Given the description of an element on the screen output the (x, y) to click on. 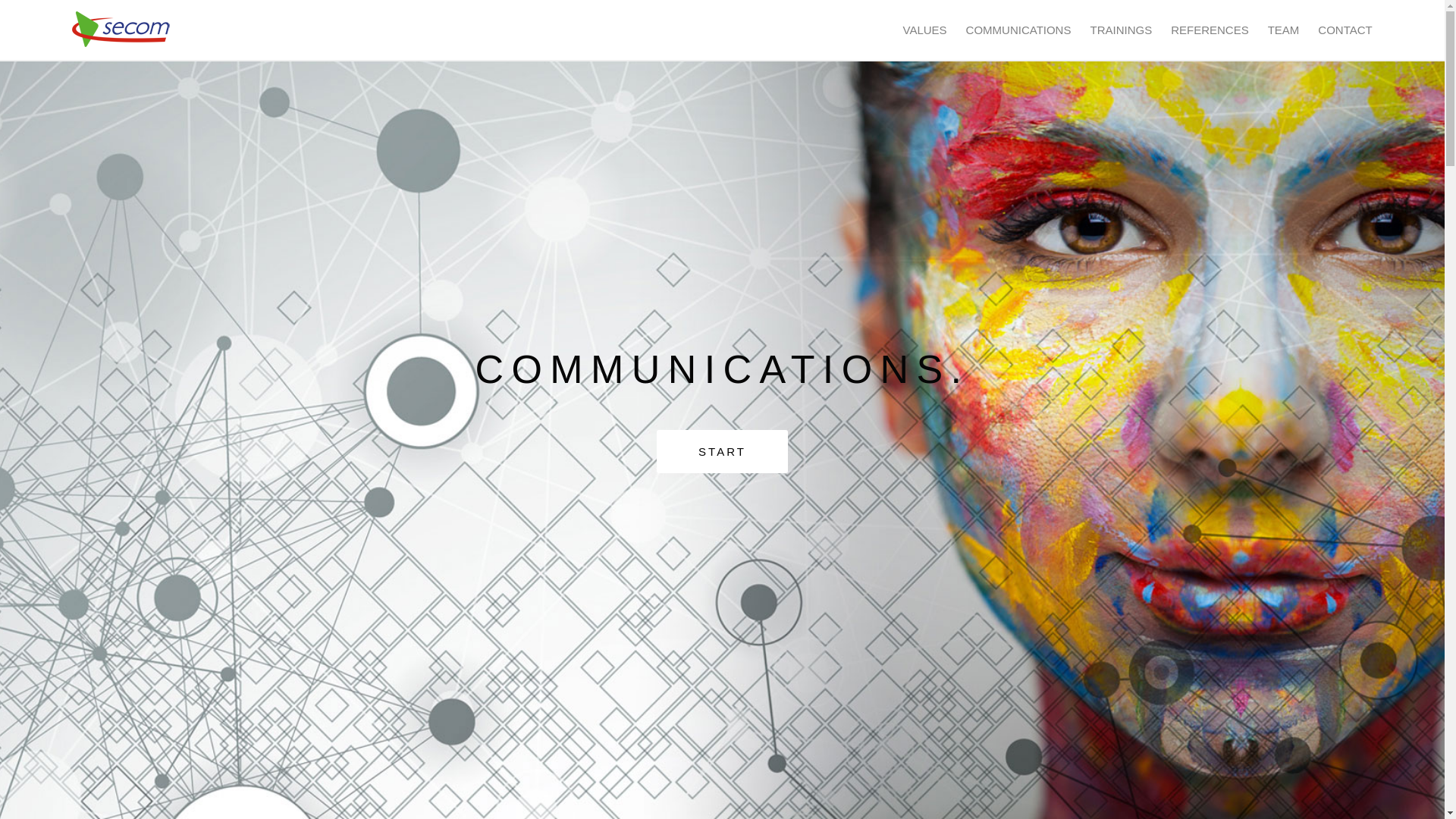
REFERENCES Element type: text (1209, 29)
Home Element type: hover (121, 27)
TEAM Element type: text (1283, 29)
Skip to main content Element type: text (51, 0)
TRAININGS Element type: text (1120, 29)
VALUES Element type: text (924, 29)
CONTACT Element type: text (1344, 29)
START Element type: text (721, 450)
COMMUNICATIONS Element type: text (1018, 29)
